Given the description of an element on the screen output the (x, y) to click on. 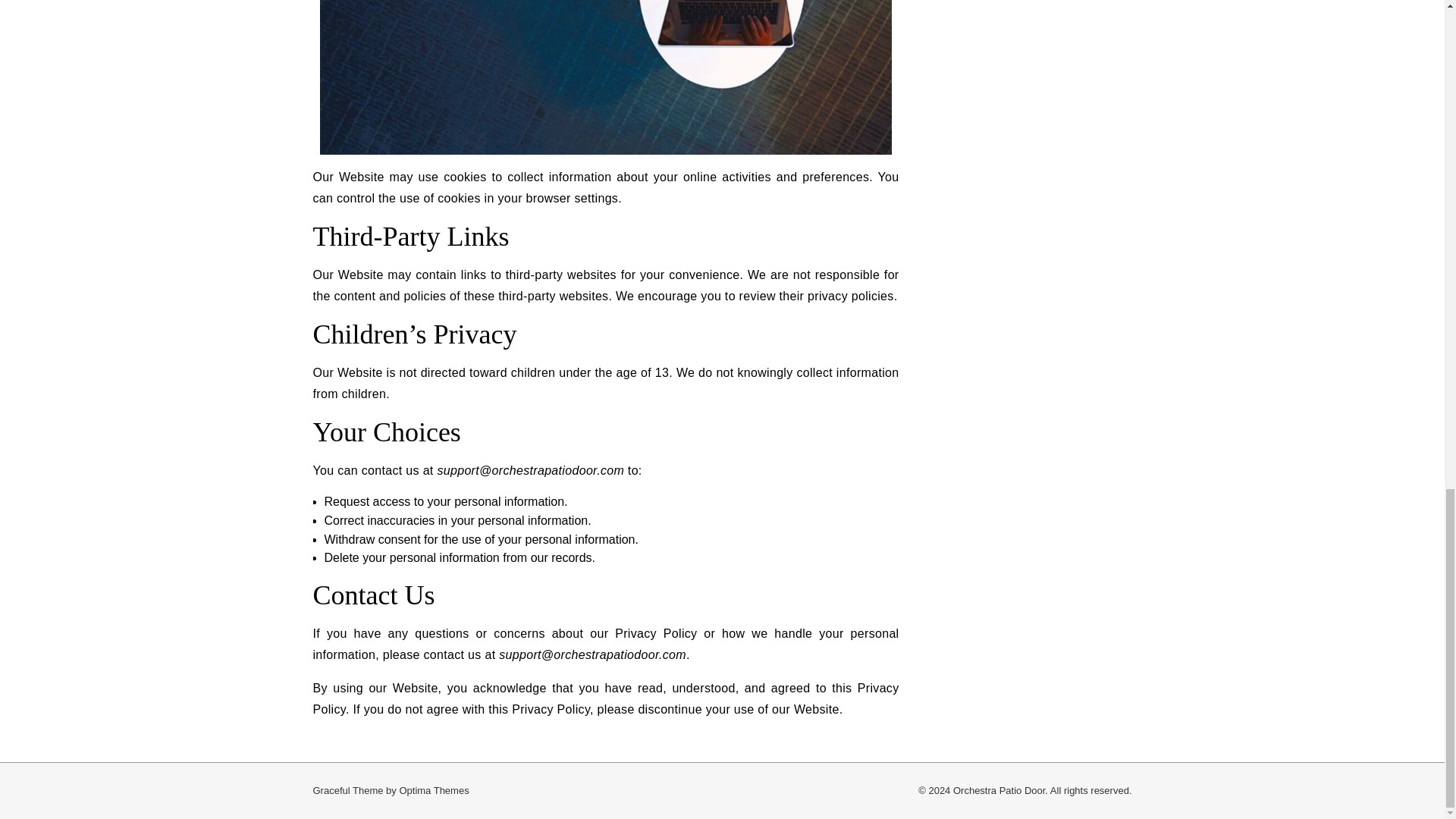
Optima Themes (433, 790)
